Given the description of an element on the screen output the (x, y) to click on. 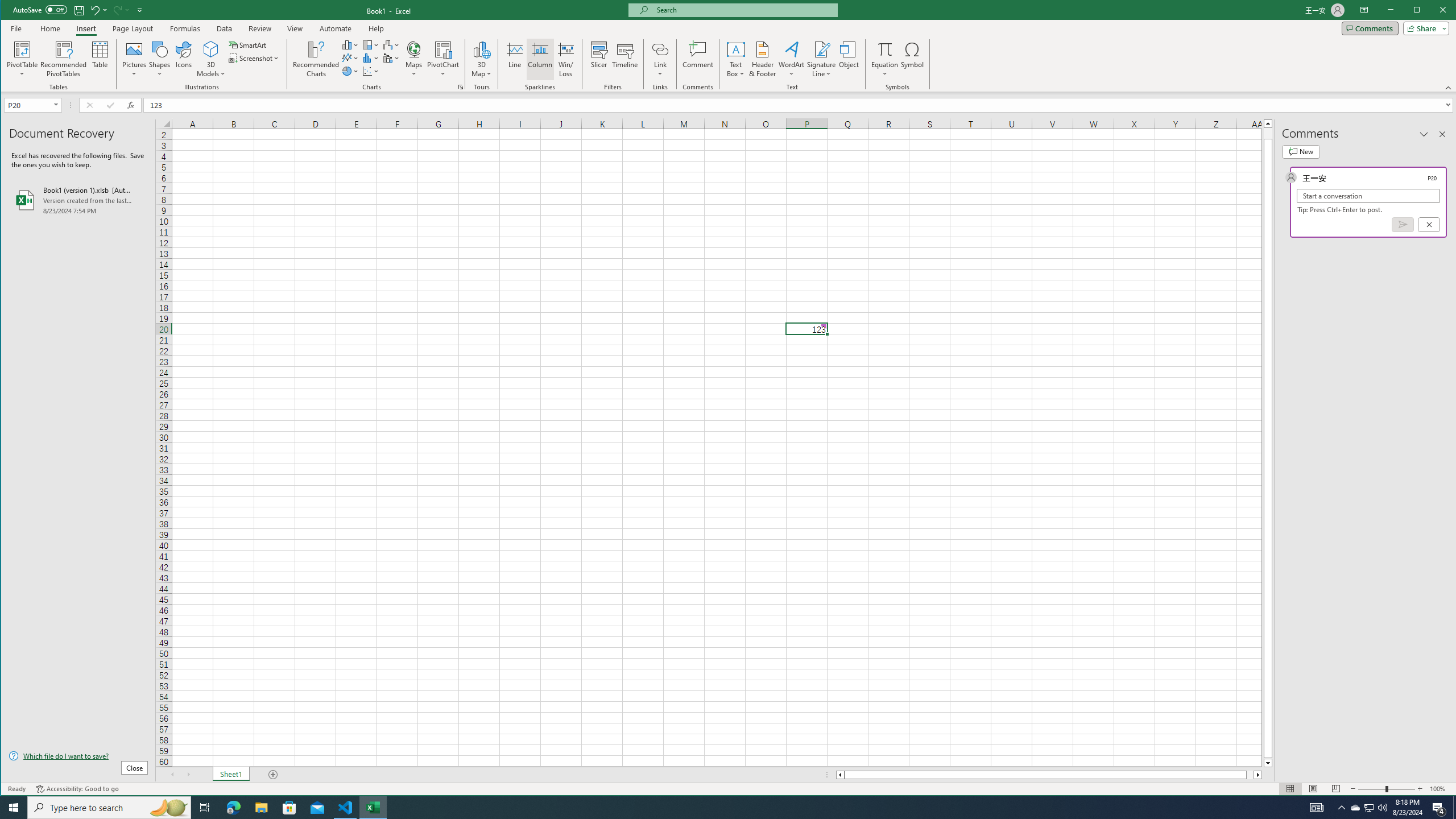
Signature Line (821, 48)
Shapes (159, 59)
3D Map (481, 59)
Post comment (Ctrl + Enter) (1402, 224)
Recommended PivotTables (63, 59)
Screenshot (254, 57)
User Promoted Notification Area (1368, 807)
Header & Footer... (762, 59)
3D Map (1368, 807)
